Given the description of an element on the screen output the (x, y) to click on. 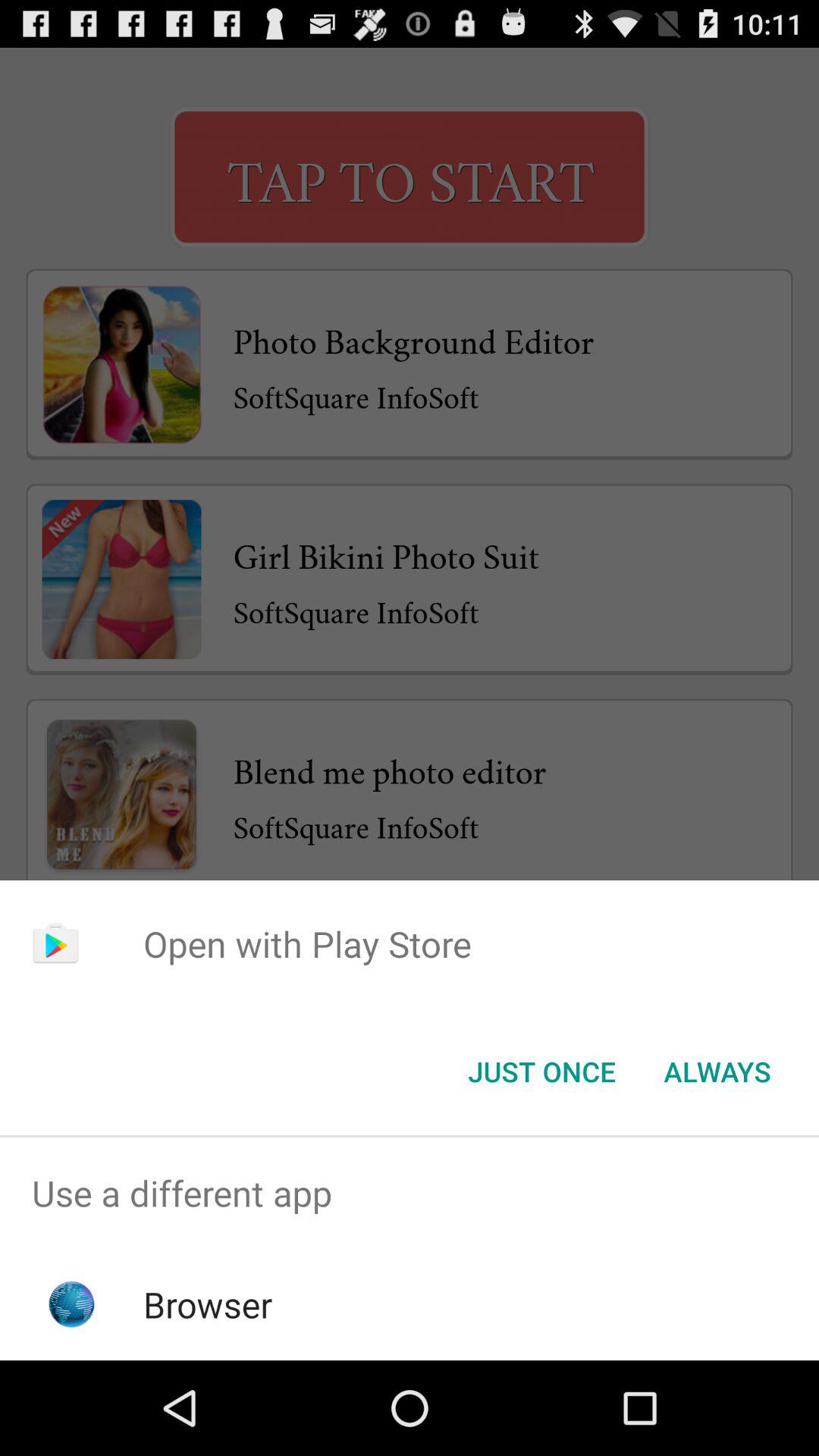
select the browser item (207, 1304)
